Given the description of an element on the screen output the (x, y) to click on. 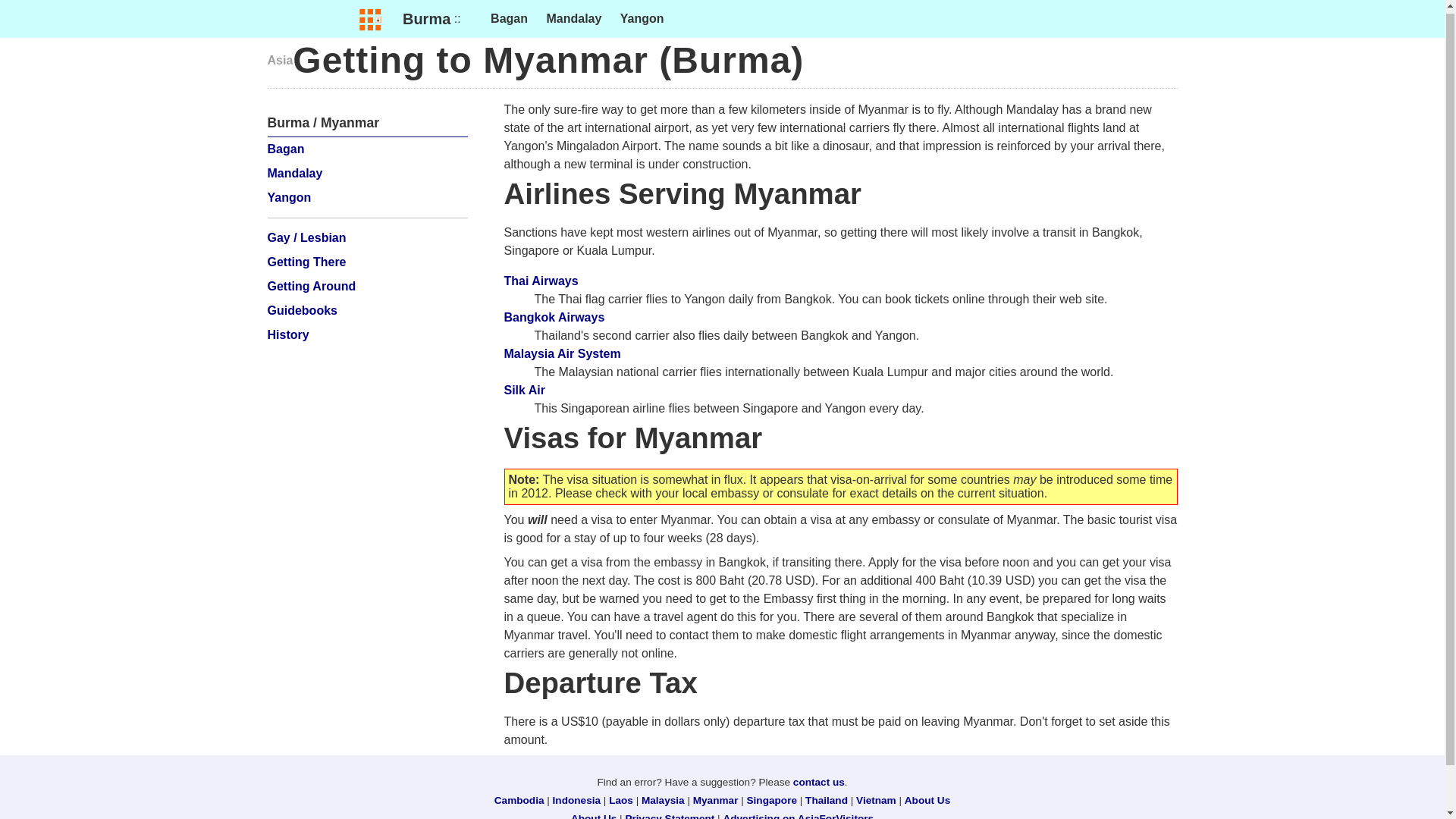
Getting Around (310, 286)
contact us (818, 781)
Malaysia Air System (561, 353)
Bagan (285, 148)
Laos (620, 799)
Bangkok Airways (553, 317)
Singapore (771, 799)
Asia (279, 60)
Vietnam (876, 799)
History (287, 334)
